Given the description of an element on the screen output the (x, y) to click on. 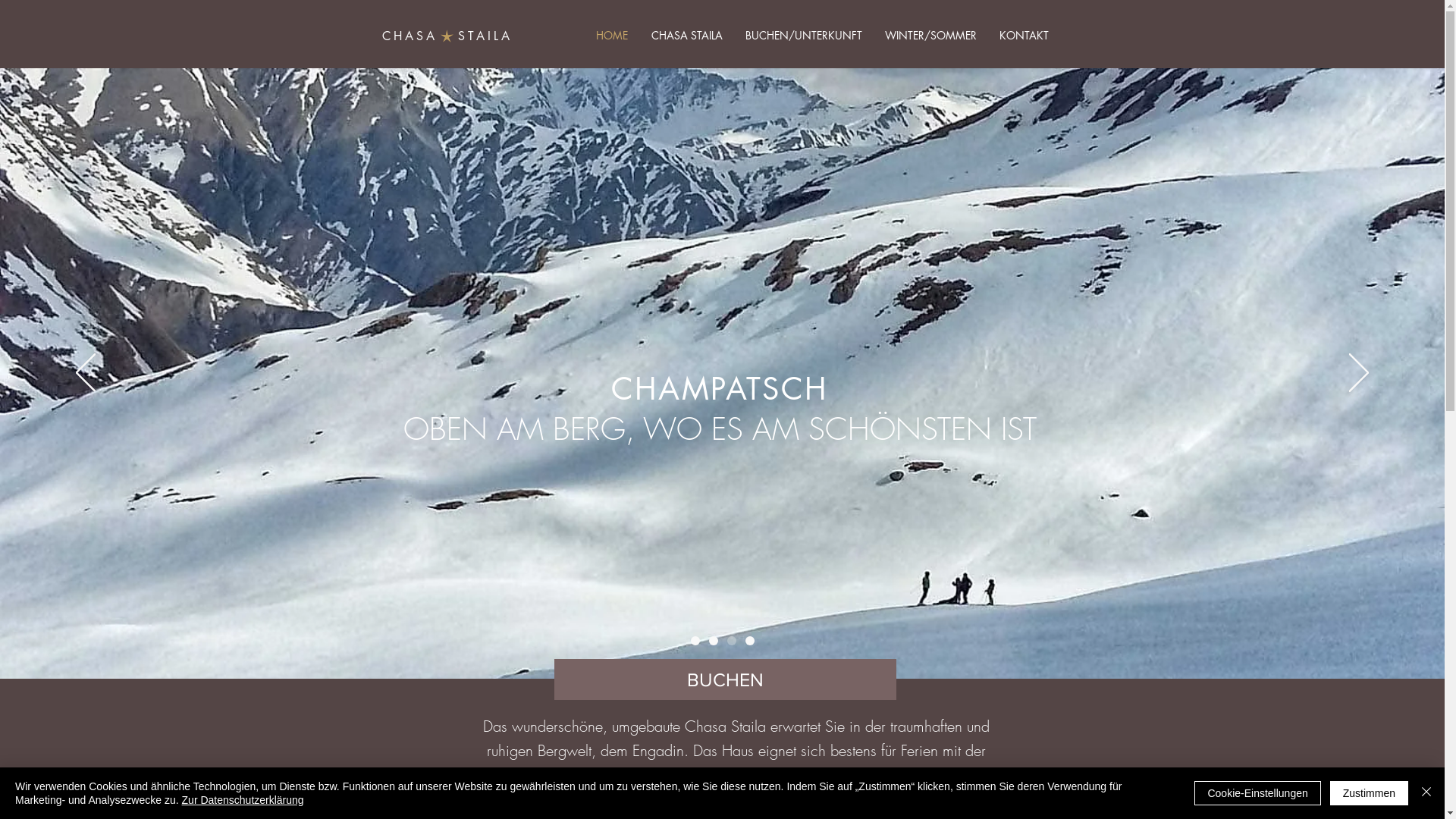
CHASA   STAILA Element type: text (447, 35)
KONTAKT Element type: text (1023, 35)
BUCHEN Element type: text (724, 678)
HOME Element type: text (611, 35)
BUCHEN/UNTERKUNFT Element type: text (803, 35)
Zustimmen Element type: text (1369, 793)
WINTER/SOMMER Element type: text (930, 35)
Cookie-Einstellungen Element type: text (1257, 793)
CHASA STAILA Element type: text (687, 35)
